Given the description of an element on the screen output the (x, y) to click on. 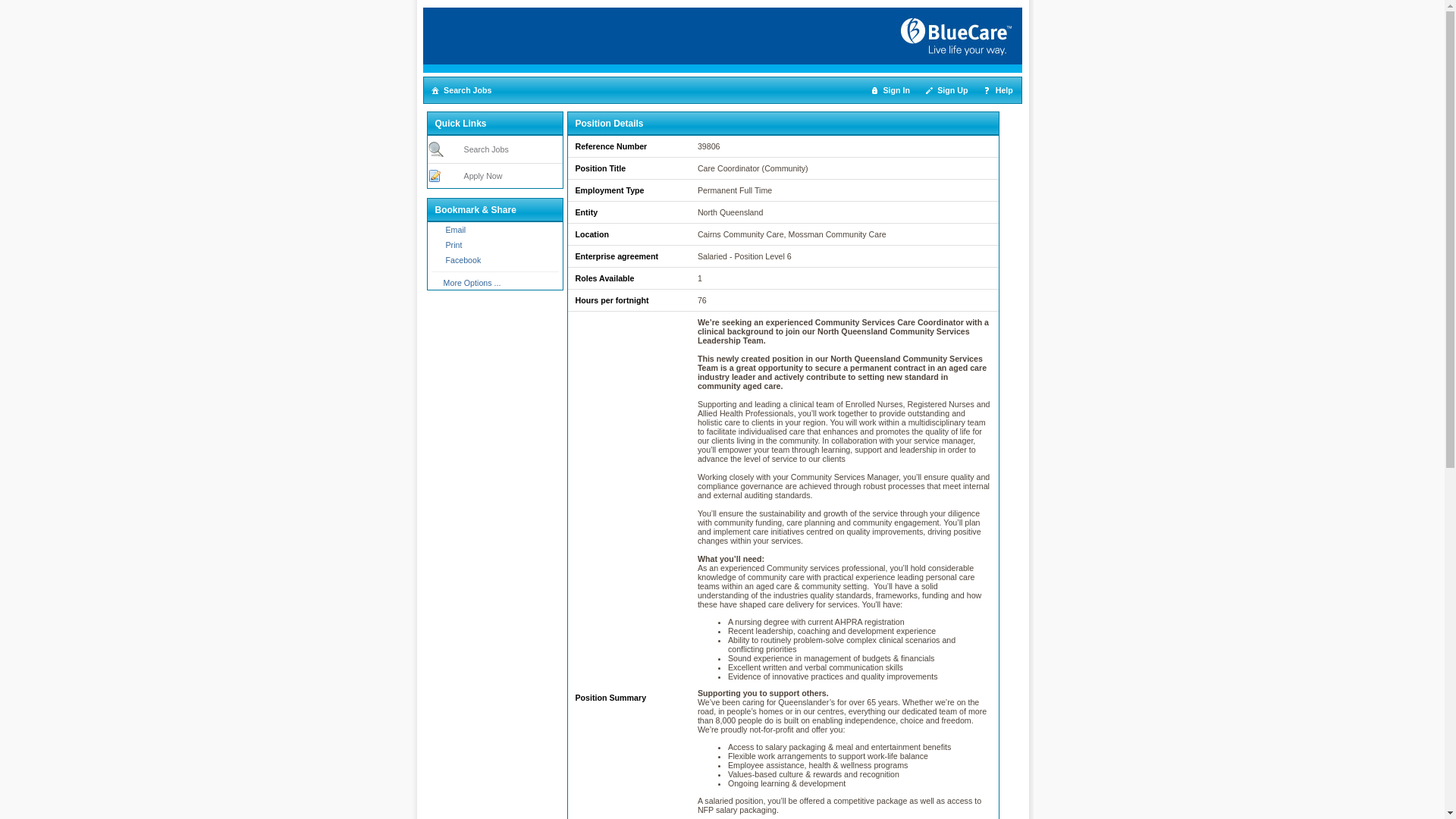
Facebook Element type: text (475, 259)
Print Element type: text (475, 244)
Sign In Element type: text (890, 90)
Sign Up Element type: text (947, 90)
Search Jobs Element type: text (486, 148)
Email Element type: text (475, 229)
Apply Now Element type: text (483, 175)
More Options ... Element type: text (471, 282)
Search Jobs Element type: text (462, 90)
Help Element type: text (997, 90)
